Given the description of an element on the screen output the (x, y) to click on. 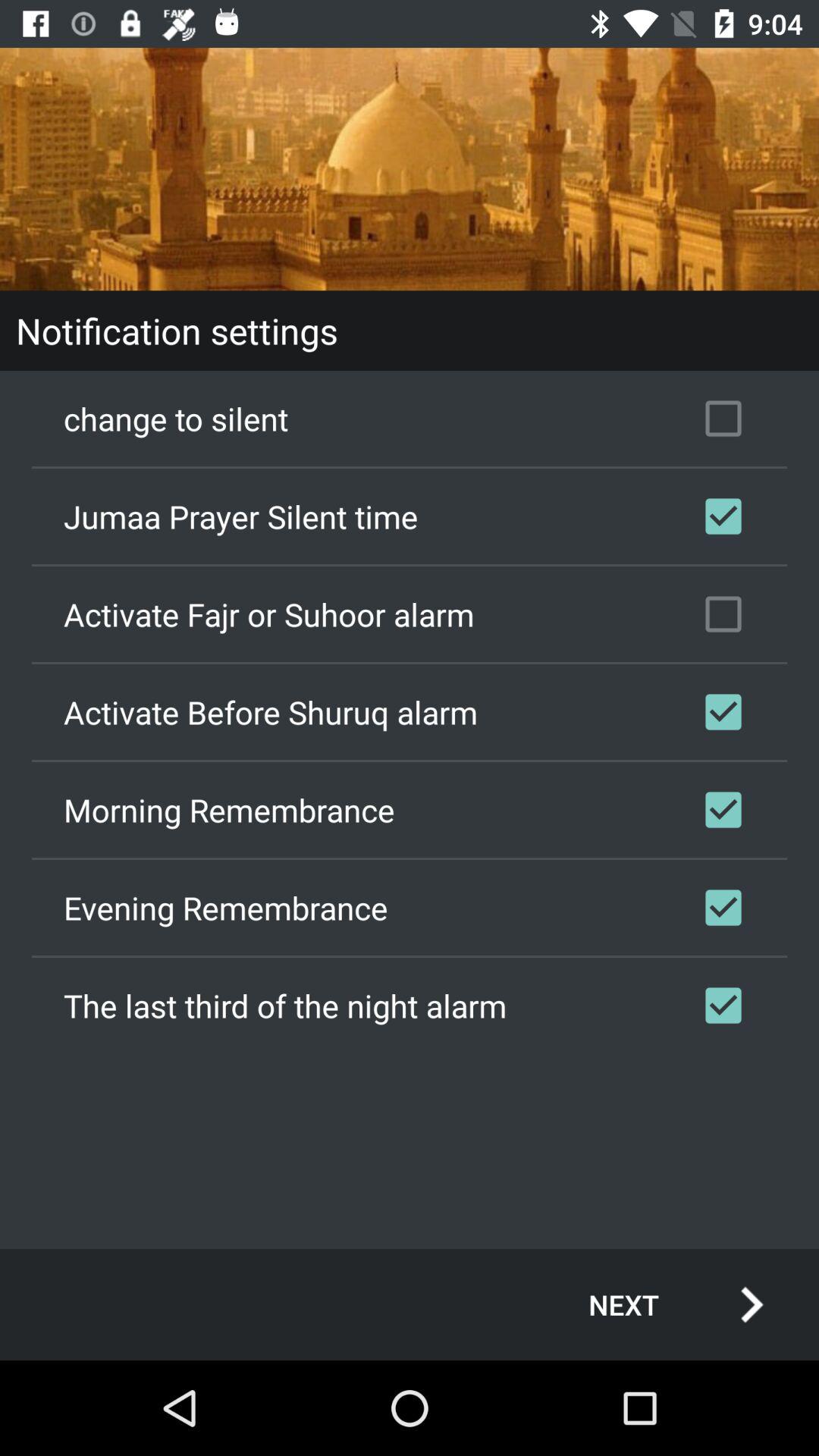
launch icon above the jumaa prayer silent icon (409, 418)
